Given the description of an element on the screen output the (x, y) to click on. 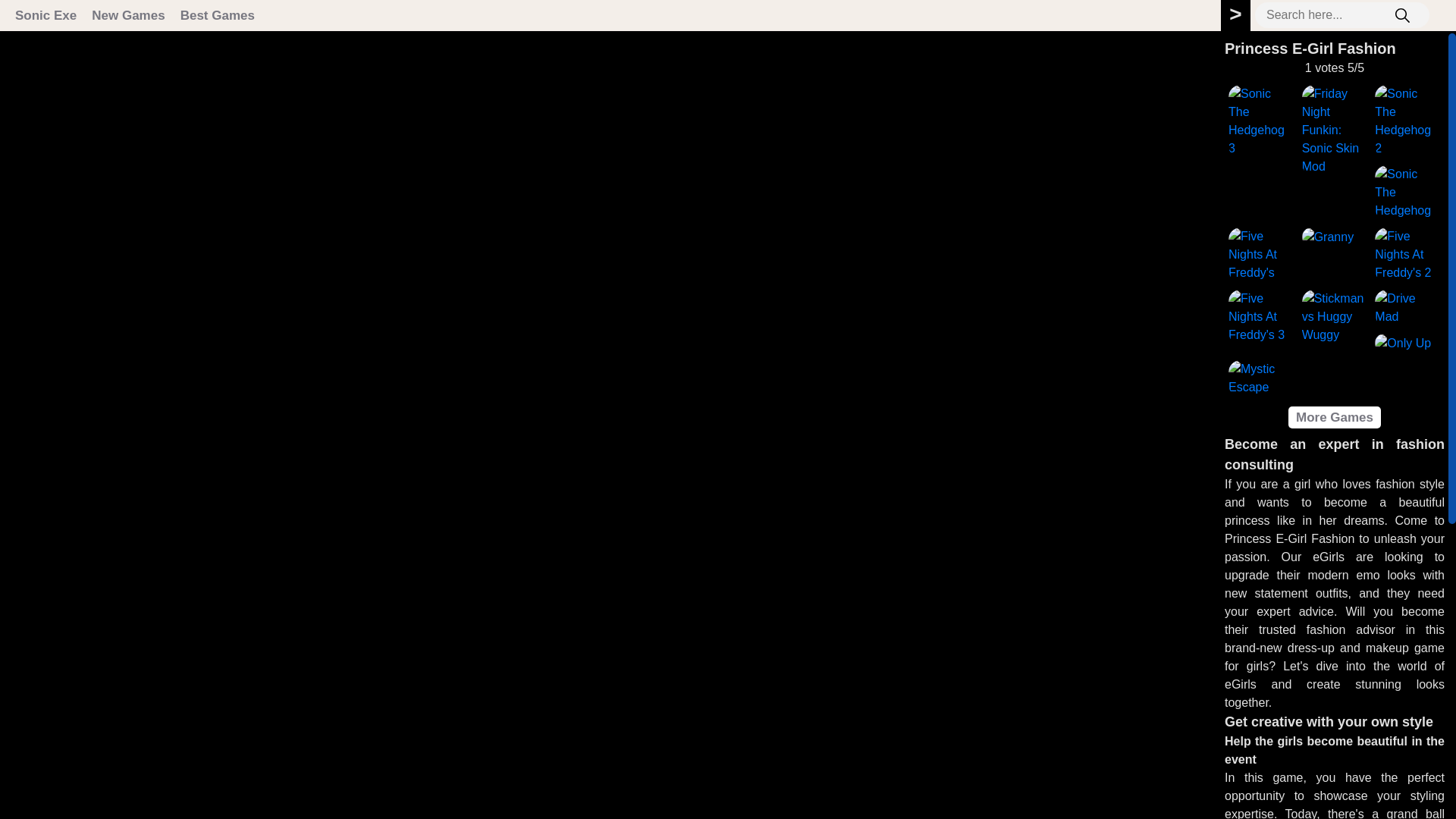
New Games (127, 15)
Five Nights At Freddy's 2 (1407, 254)
Sonic The Hedgehog (1407, 192)
Mystic Escape (1261, 378)
Sonic Exe (45, 15)
Best Games (217, 15)
Sonic The Hedgehog 2 (1407, 121)
Five Nights At Freddy's 3 (1261, 316)
Drive Mad (1407, 307)
More Games (1334, 417)
